Given the description of an element on the screen output the (x, y) to click on. 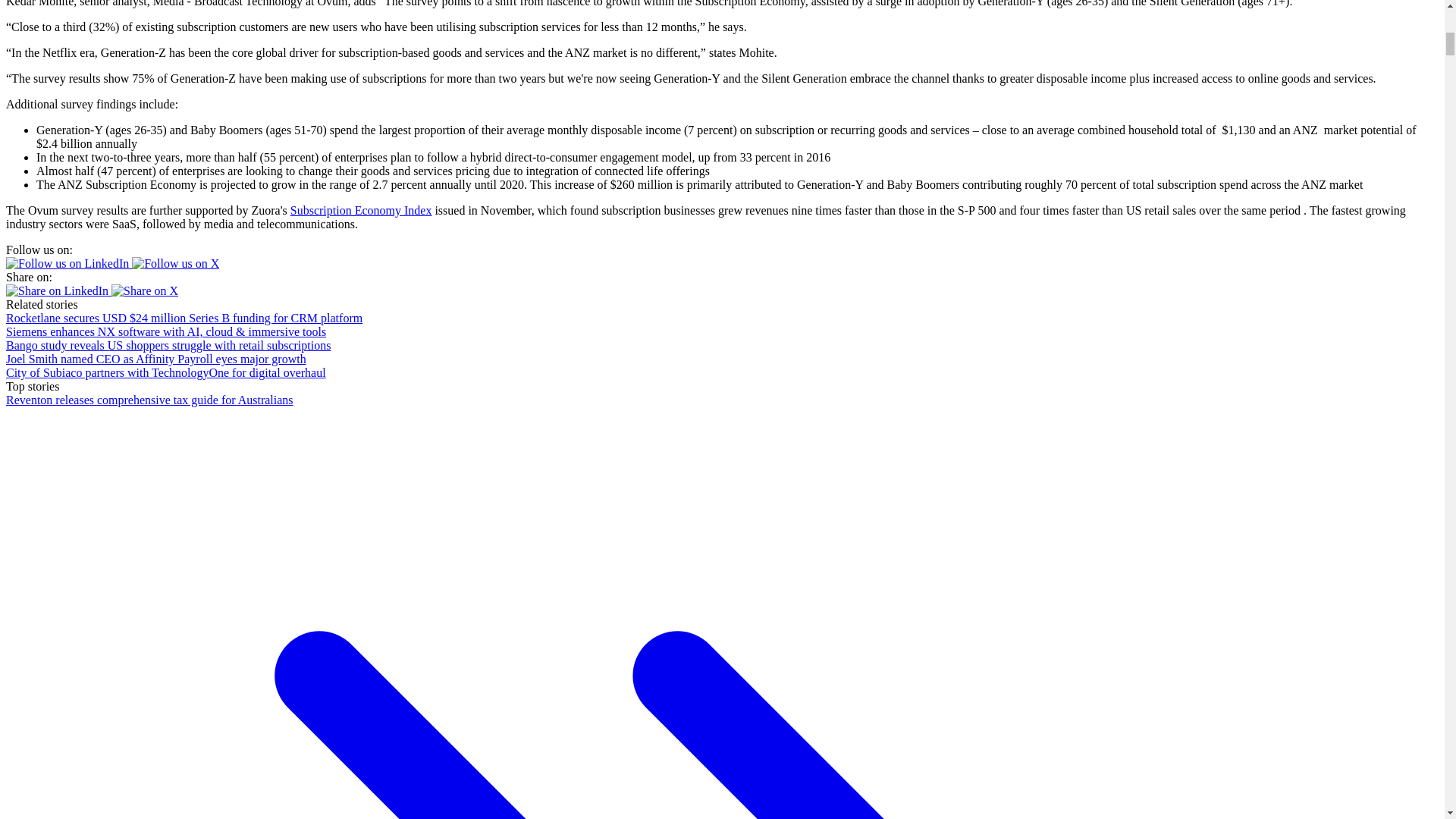
Subscription Economy Index (360, 210)
